Given the description of an element on the screen output the (x, y) to click on. 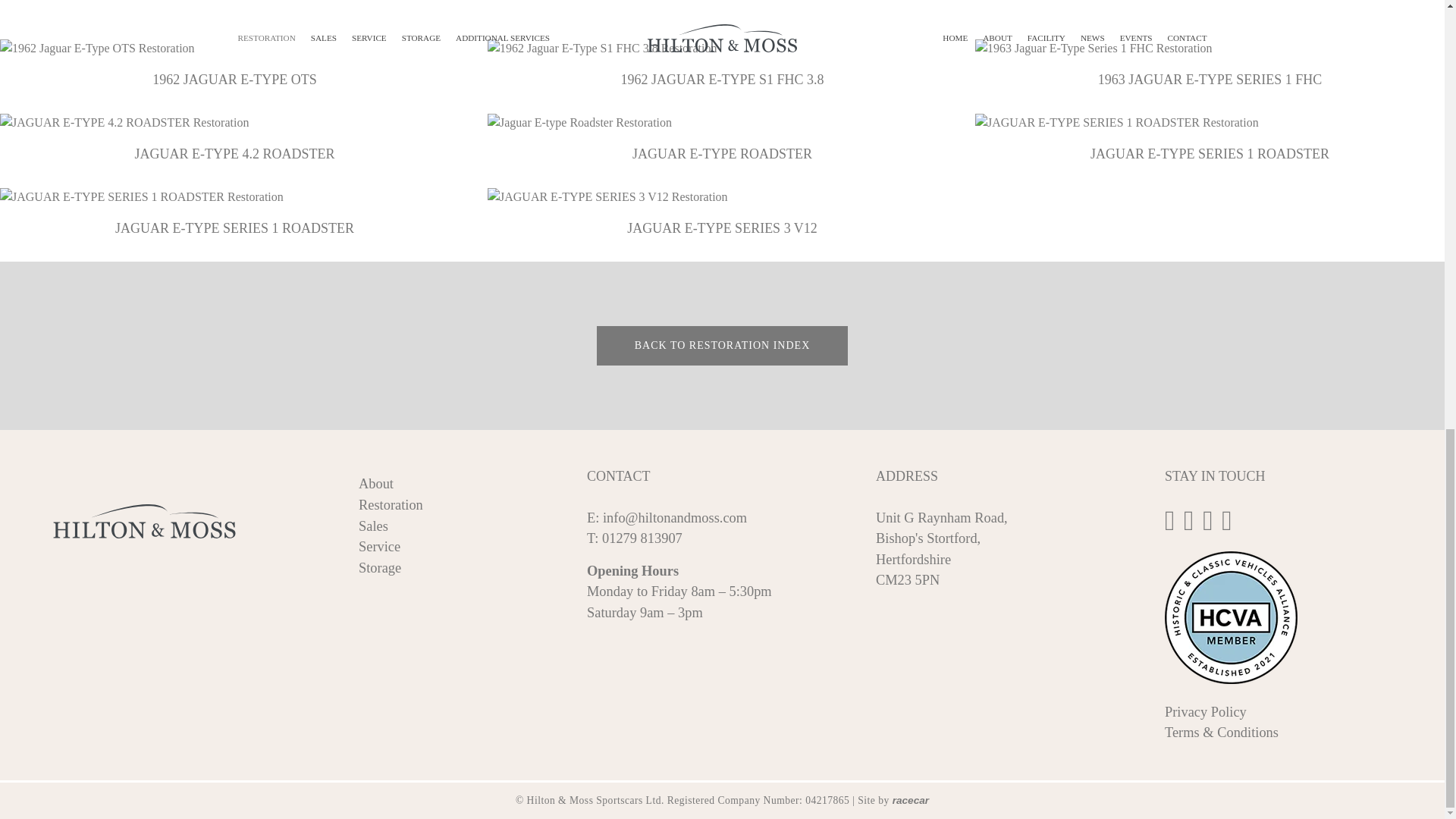
JAGUAR E-TYPE SERIES 1 ROADSTER (234, 213)
JAGUAR E-TYPE SERIES 3 V12 (721, 213)
Restoration (390, 504)
JAGUAR E-TYPE 4.2 ROADSTER (234, 138)
About (375, 483)
Sales (373, 525)
BACK TO RESTORATION INDEX (722, 345)
JAGUAR E-TYPE ROADSTER (721, 138)
1962 JAGUAR E-TYPE S1 FHC 3.8 (721, 63)
1962 JAGUAR E-TYPE OTS (234, 63)
